Given the description of an element on the screen output the (x, y) to click on. 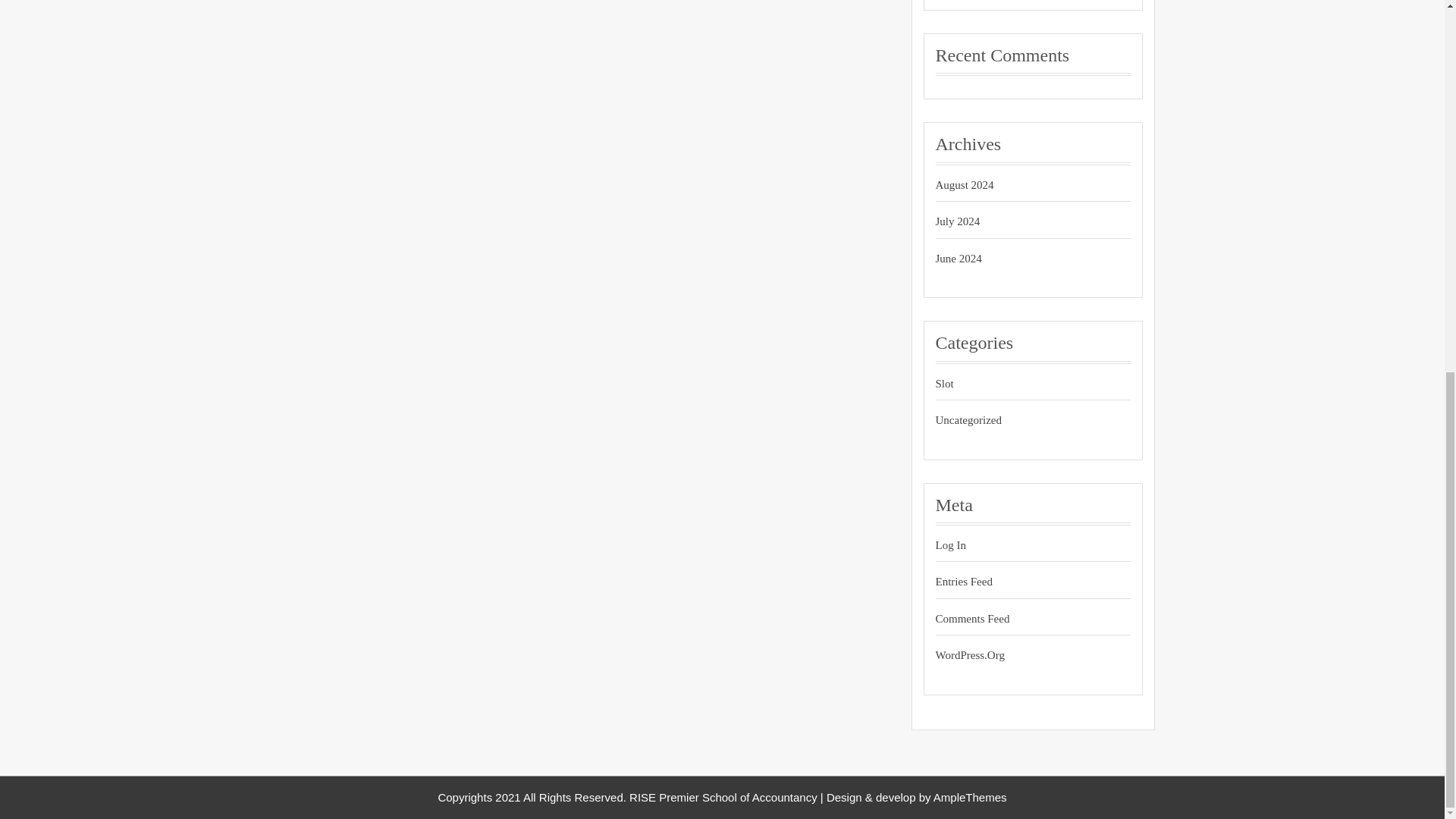
Log In (1019, 545)
Comments Feed (1019, 619)
Slot (1019, 384)
July 2024 (1019, 221)
Uncategorized (1019, 420)
August 2024 (1019, 185)
WordPress.Org (1019, 655)
June 2024 (1019, 258)
Entries Feed (1019, 581)
